Given the description of an element on the screen output the (x, y) to click on. 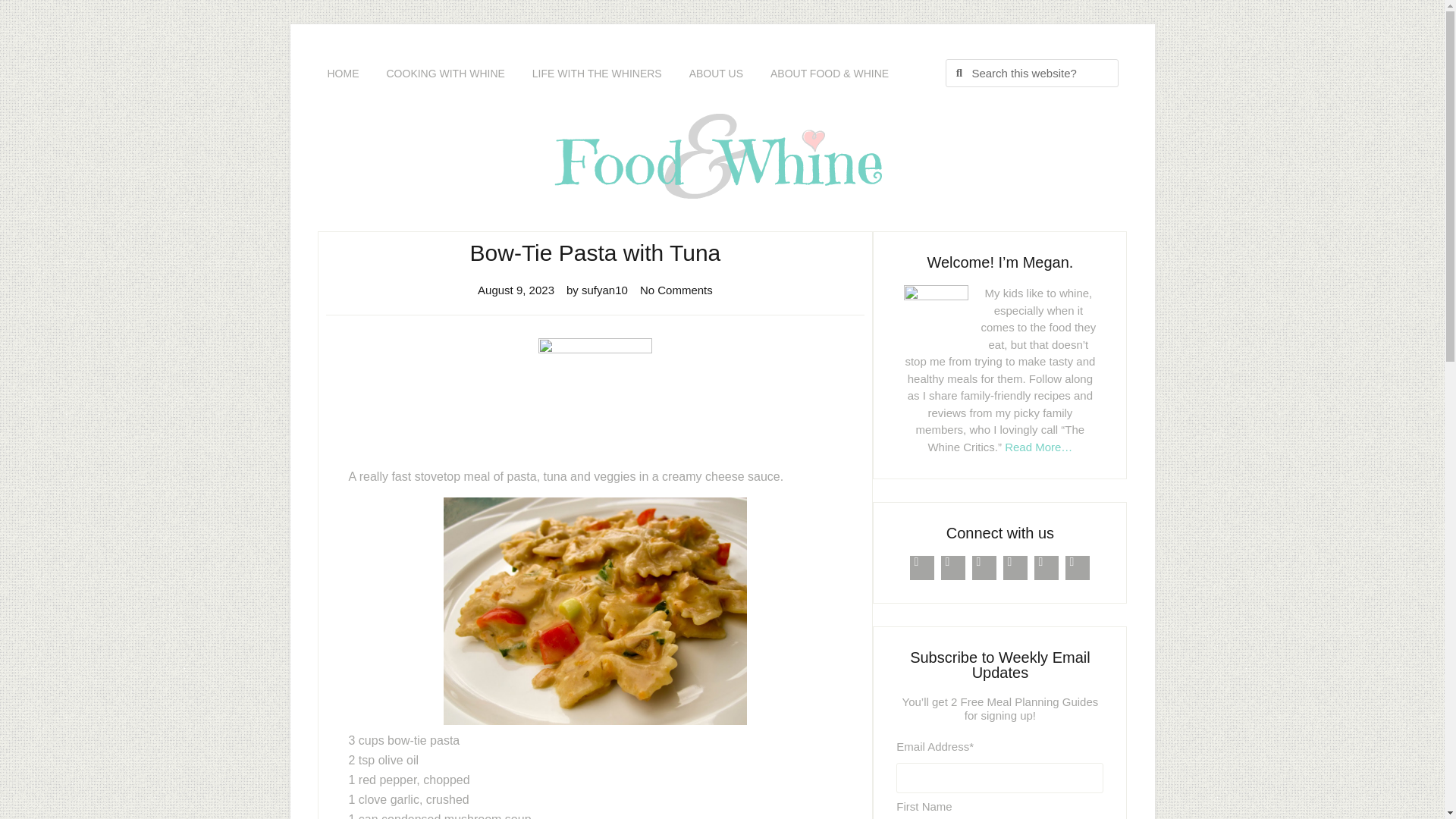
LIFE WITH THE WHINERS (596, 72)
No Comments (676, 290)
by sufyan10 (596, 290)
ABOUT US (716, 72)
COOKING WITH WHINE (445, 72)
August 9, 2023 (515, 290)
HOME (342, 72)
